Given the description of an element on the screen output the (x, y) to click on. 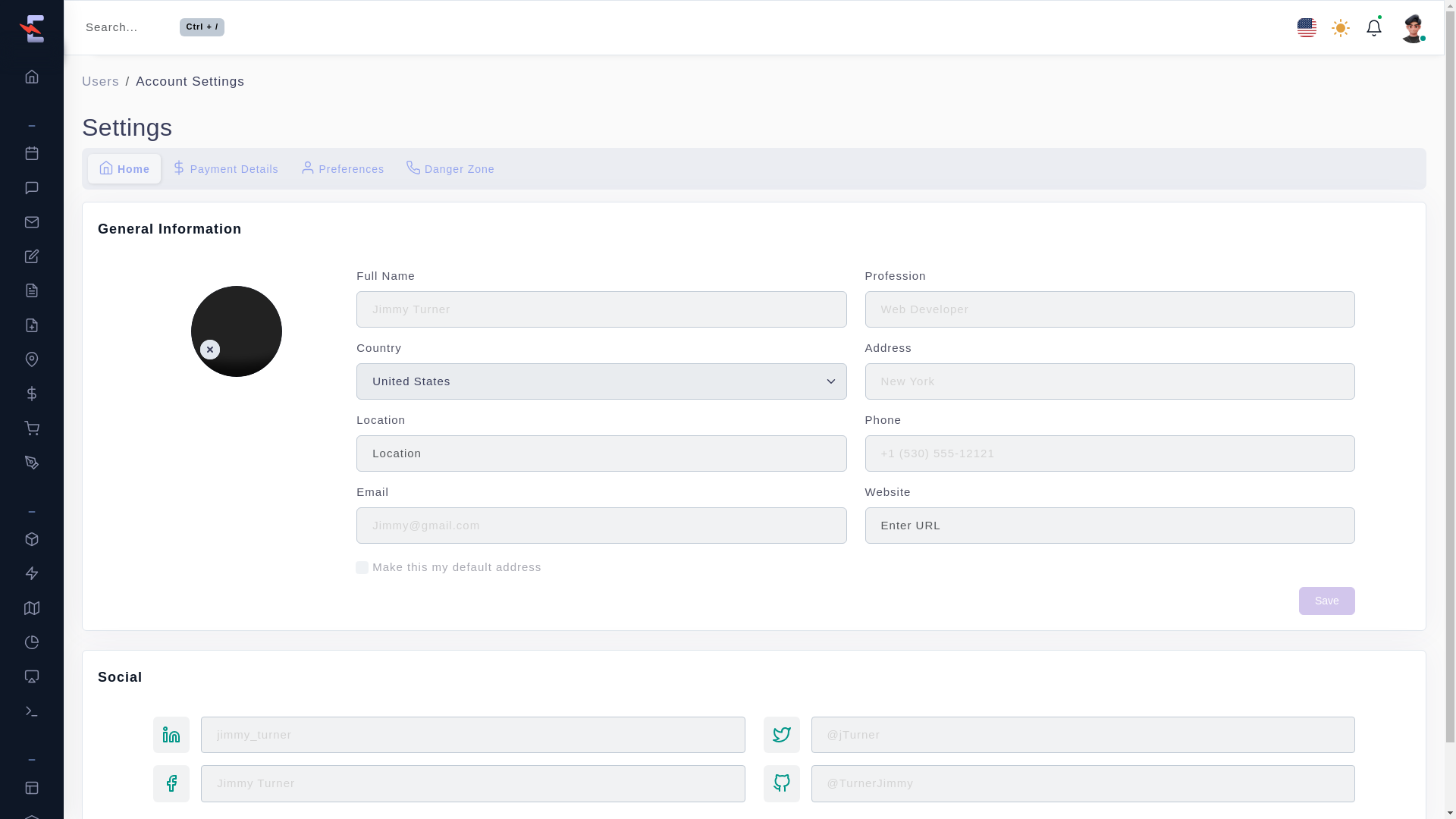
Web Developer (1109, 309)
Jimmy Turner (472, 783)
Jimmy Turner (236, 330)
New York (600, 309)
